Given the description of an element on the screen output the (x, y) to click on. 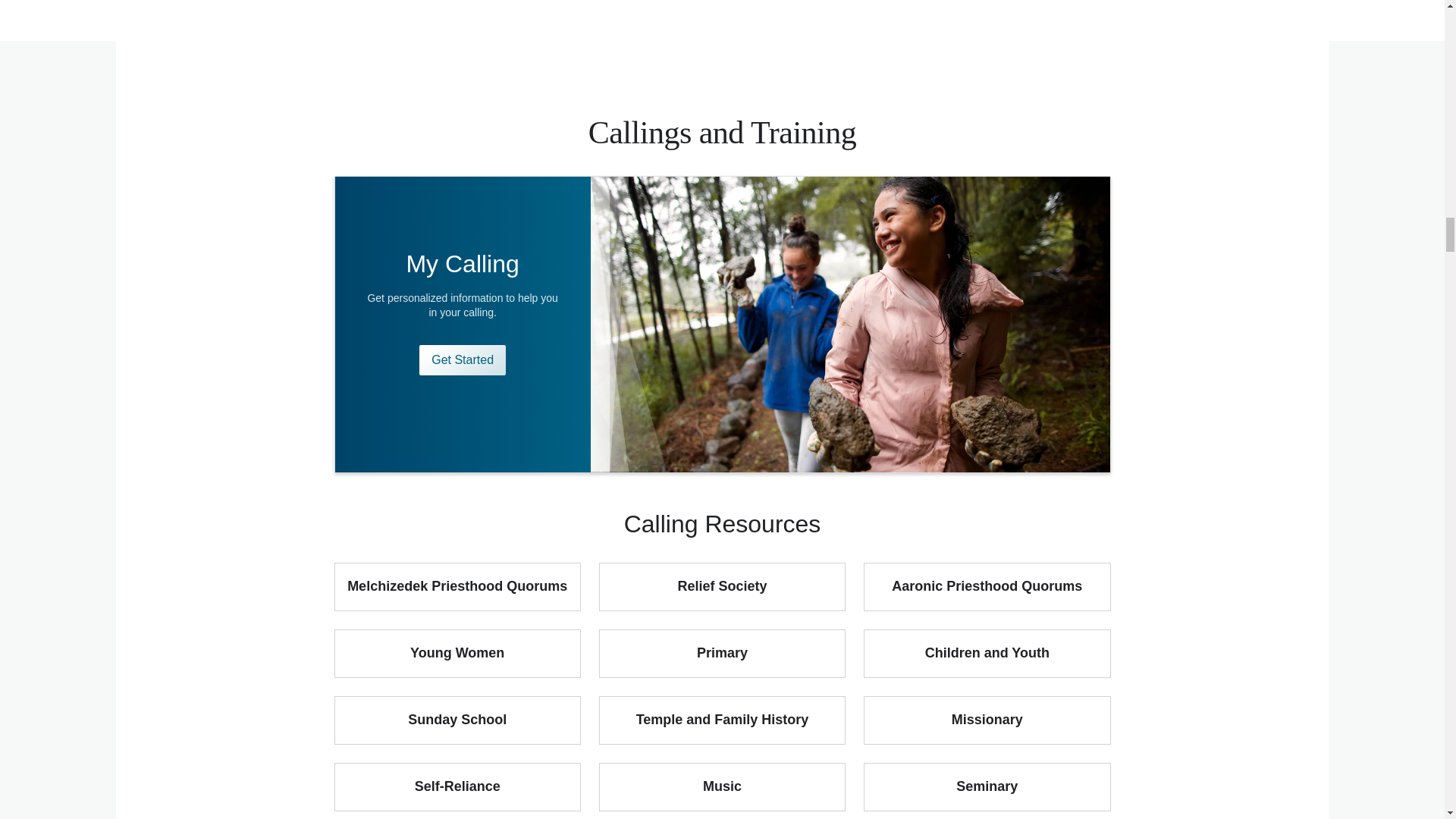
Temple and Family History (721, 720)
Get Started (462, 359)
Young Women (456, 653)
Relief Society (721, 586)
Primary (721, 653)
Aaronic Priesthood Quorums (986, 586)
Music (721, 786)
Seminary (986, 786)
Self-Reliance (456, 786)
Missionary (986, 720)
Melchizedek Priesthood Quorums (456, 586)
Children and Youth (986, 653)
Sunday School (456, 720)
